Given the description of an element on the screen output the (x, y) to click on. 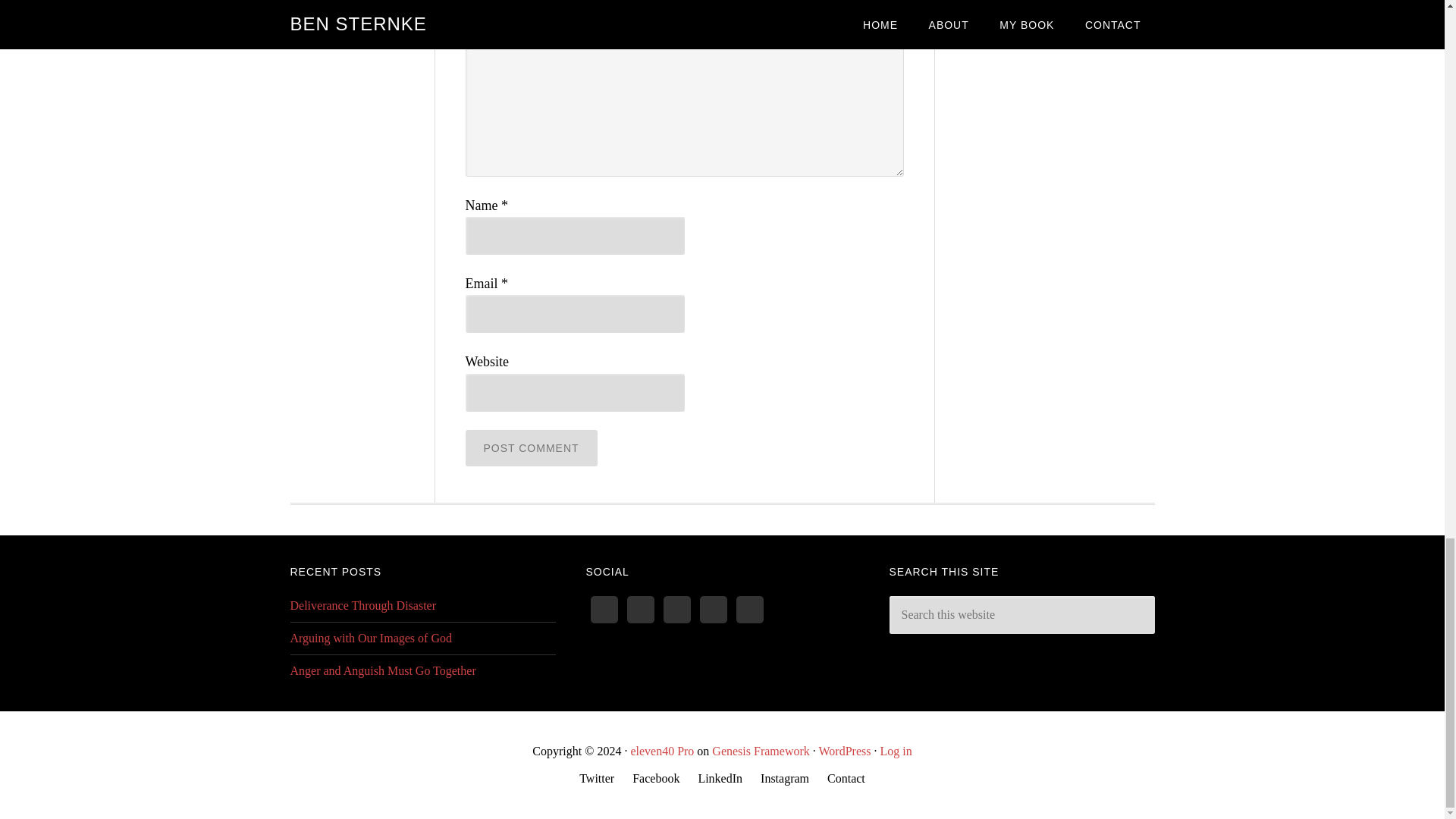
Arguing with Our Images of God (370, 637)
Deliverance Through Disaster (362, 604)
Anger and Anguish Must Go Together (382, 670)
Post Comment (530, 447)
Post Comment (530, 447)
